Given the description of an element on the screen output the (x, y) to click on. 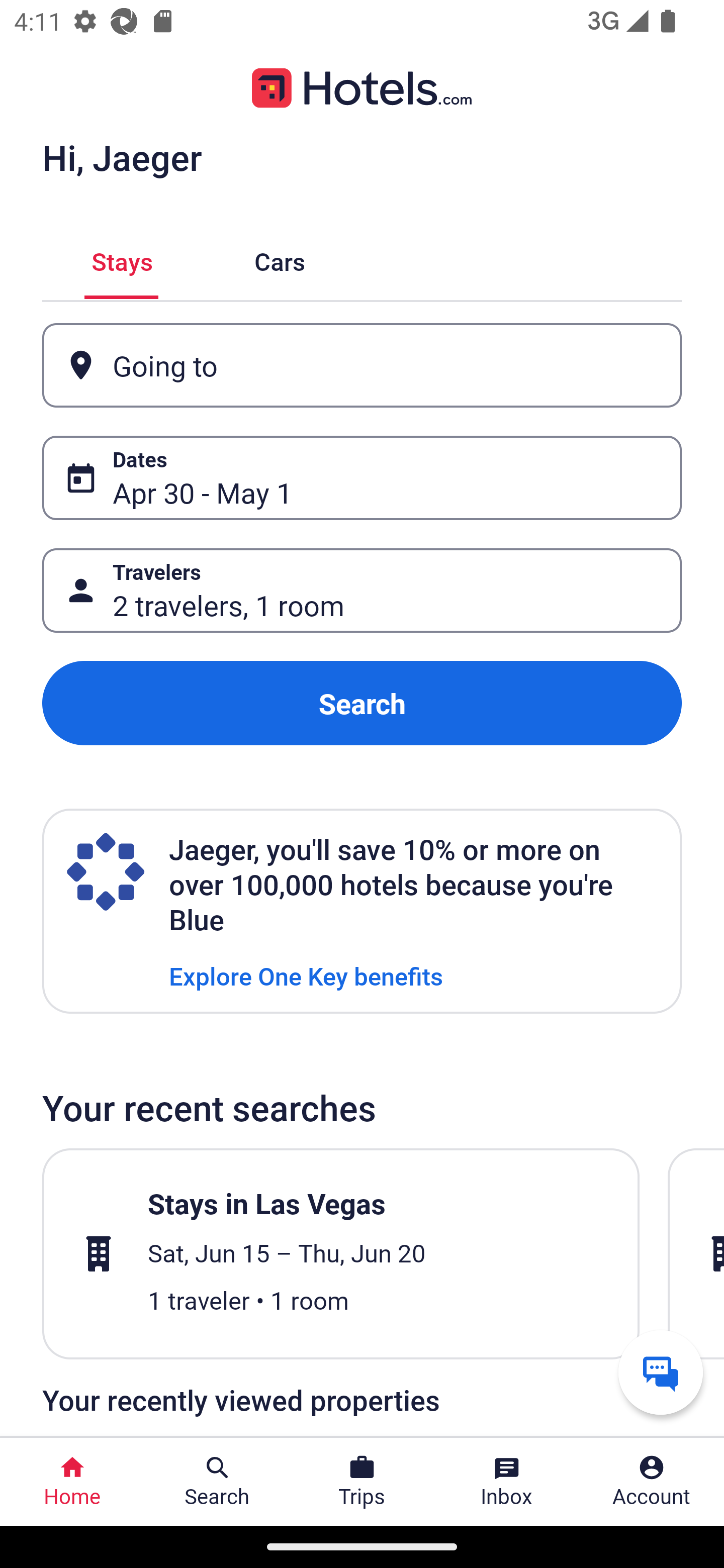
Hi, Jaeger (121, 156)
Cars (279, 259)
Going to Button (361, 365)
Dates Button Apr 30 - May 1 (361, 477)
Travelers Button 2 travelers, 1 room (361, 590)
Search (361, 702)
Get help from a virtual agent (660, 1371)
Search Search Button (216, 1481)
Trips Trips Button (361, 1481)
Inbox Inbox Button (506, 1481)
Account Profile. Button (651, 1481)
